Given the description of an element on the screen output the (x, y) to click on. 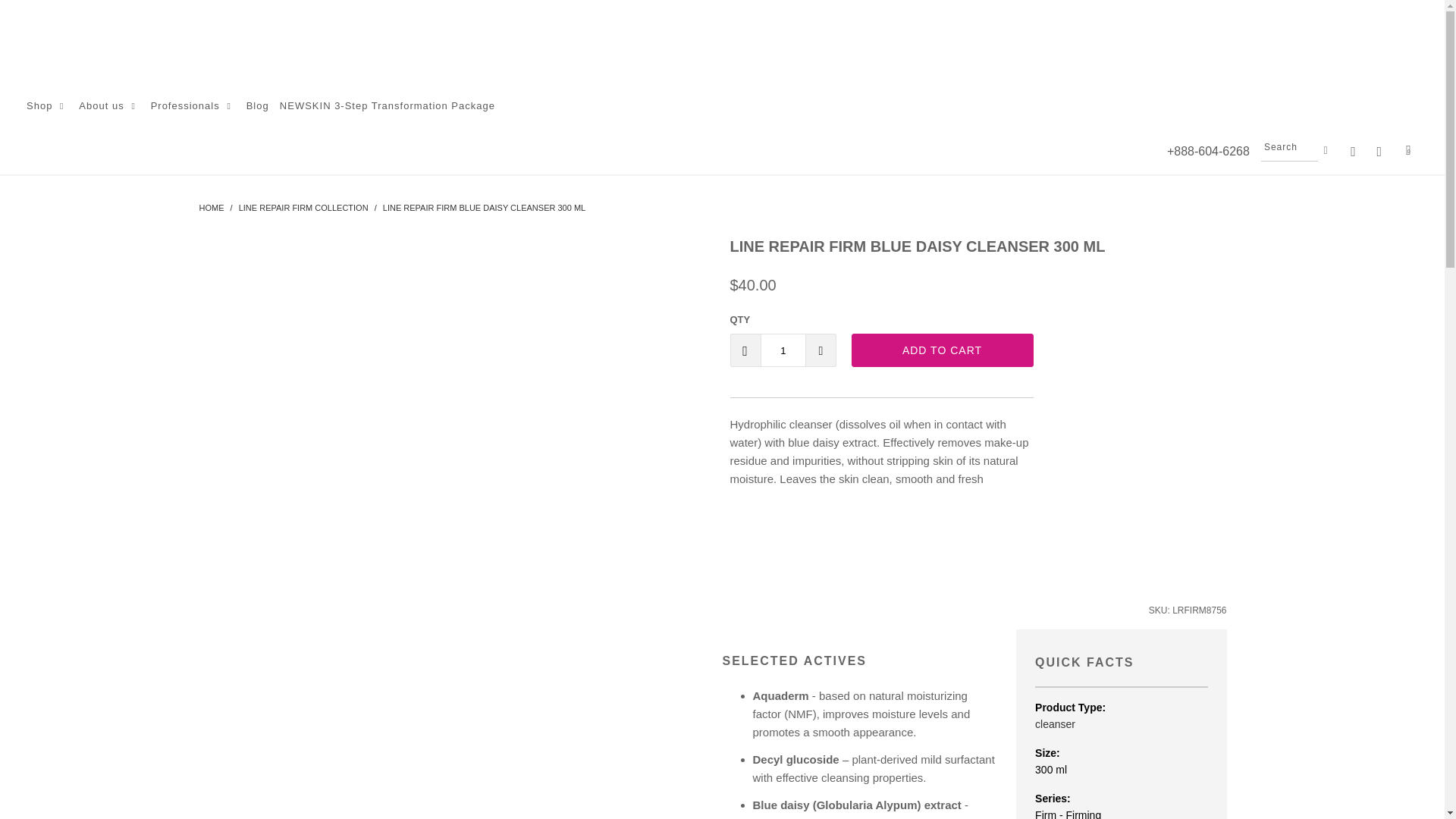
My Account  (1379, 151)
1 (783, 349)
Line Repair Firm collection (304, 207)
Christina Cosmeceuticals (211, 207)
